Given the description of an element on the screen output the (x, y) to click on. 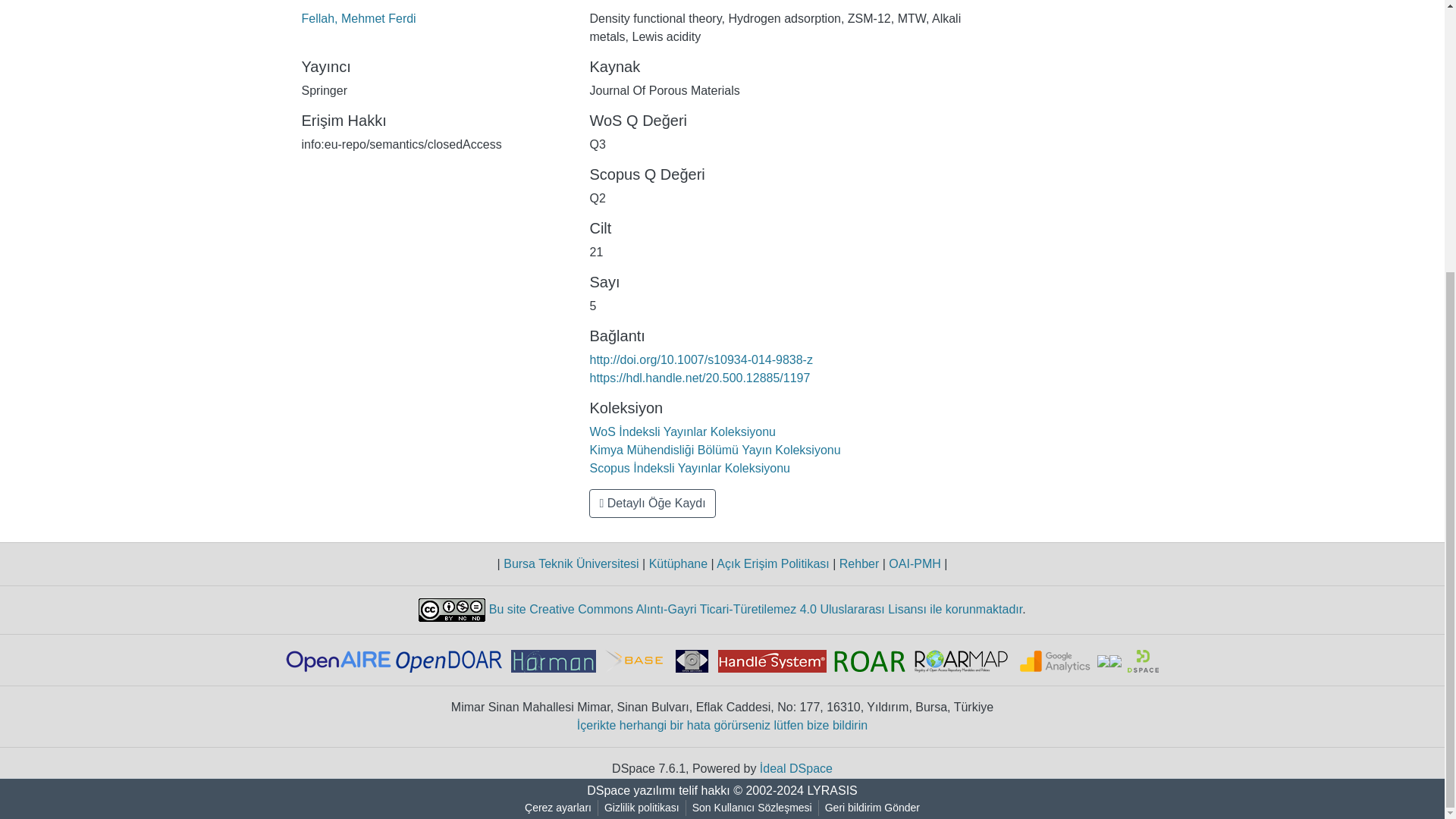
OAI-PMH (914, 563)
Rehber (858, 563)
Fellah, Mehmet Ferdi (358, 18)
